Given the description of an element on the screen output the (x, y) to click on. 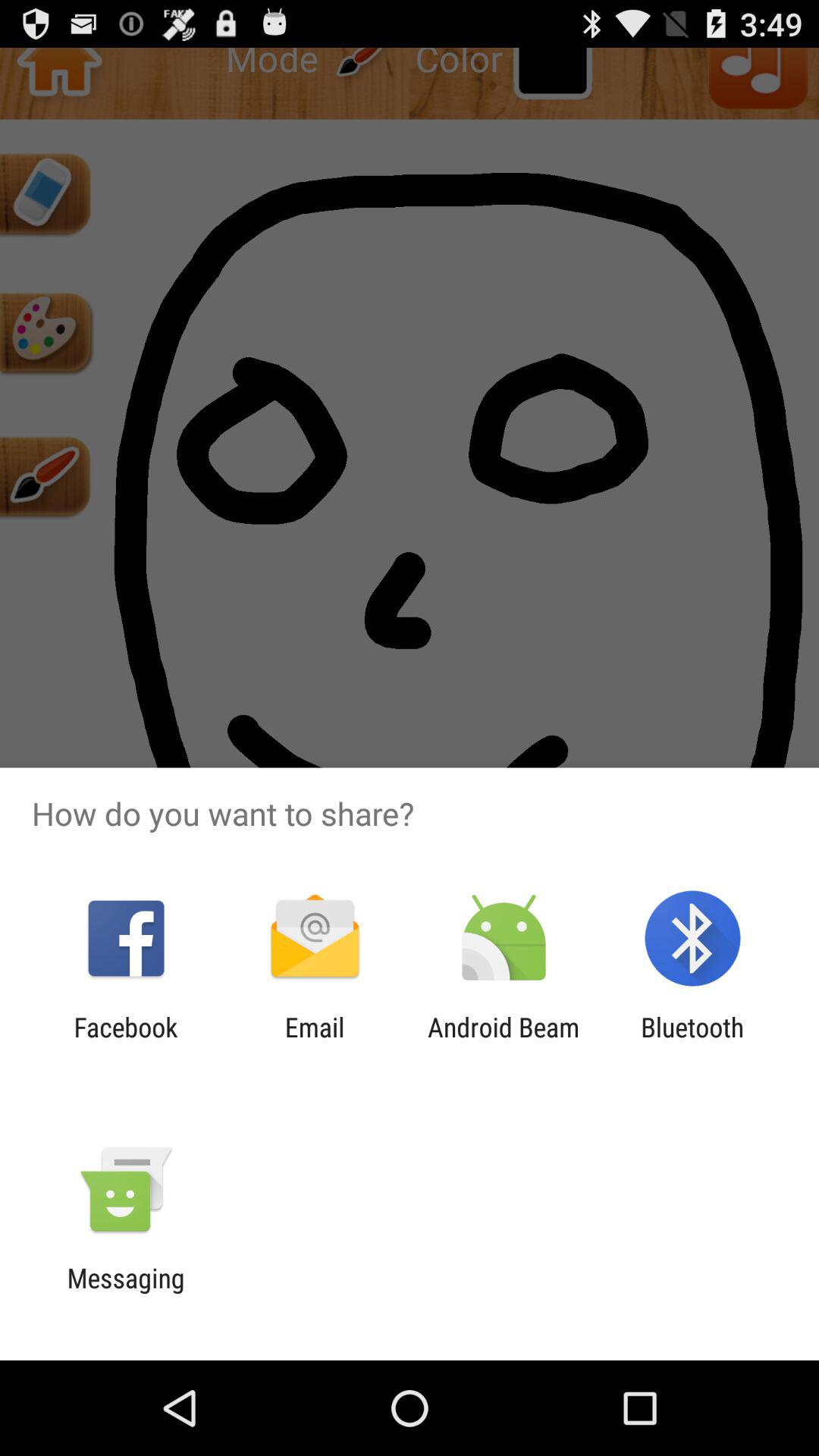
click the item next to the facebook (314, 1042)
